Given the description of an element on the screen output the (x, y) to click on. 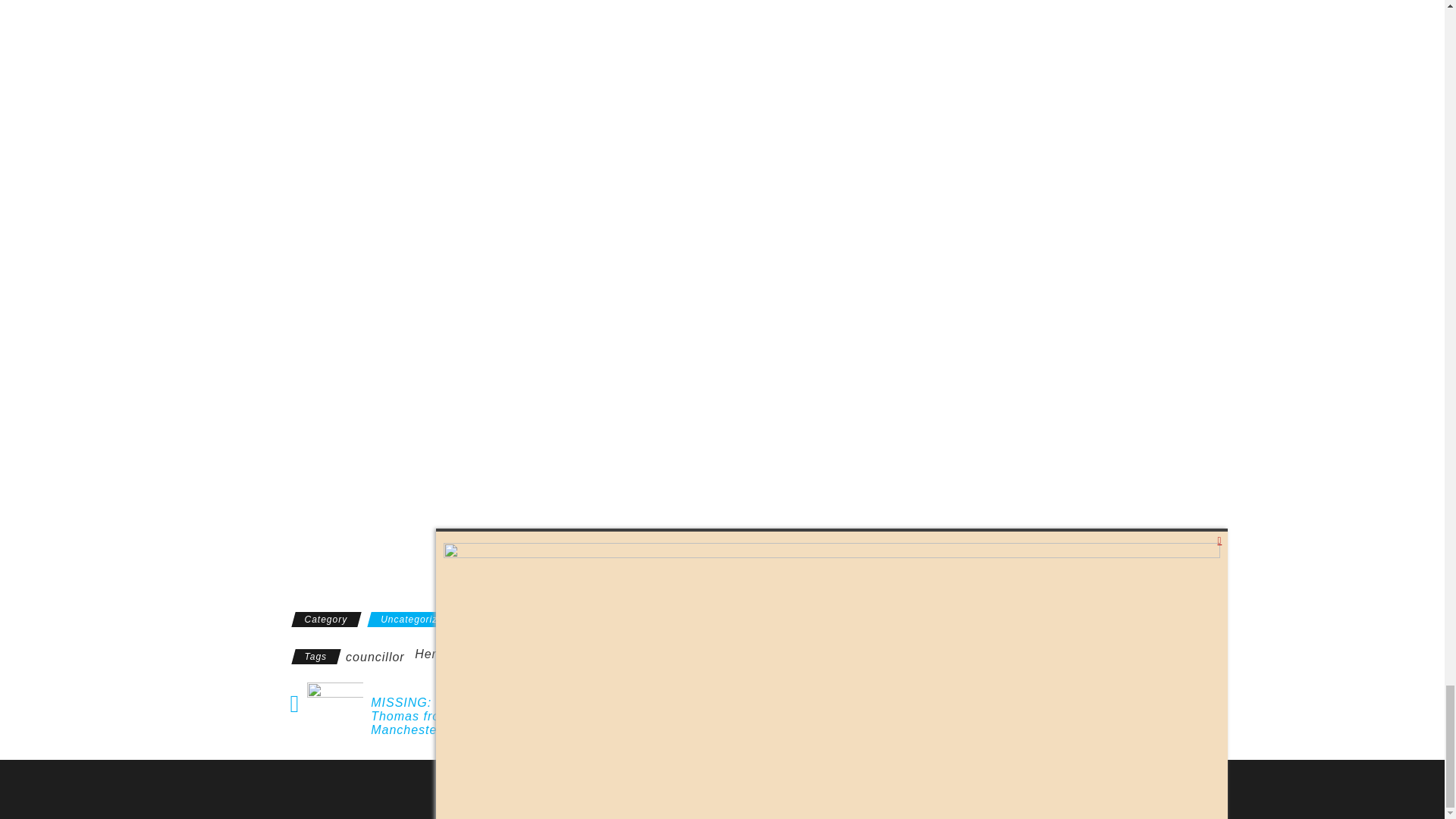
Uncategorized (414, 619)
PNP (610, 653)
Lluidas Vale police host nine night for colleague (694, 709)
Linstead (561, 656)
councillor (375, 656)
MISSING: Tasheika Thomas from Clarendon, Manchester (454, 716)
Herbert Garriques (469, 653)
